Given the description of an element on the screen output the (x, y) to click on. 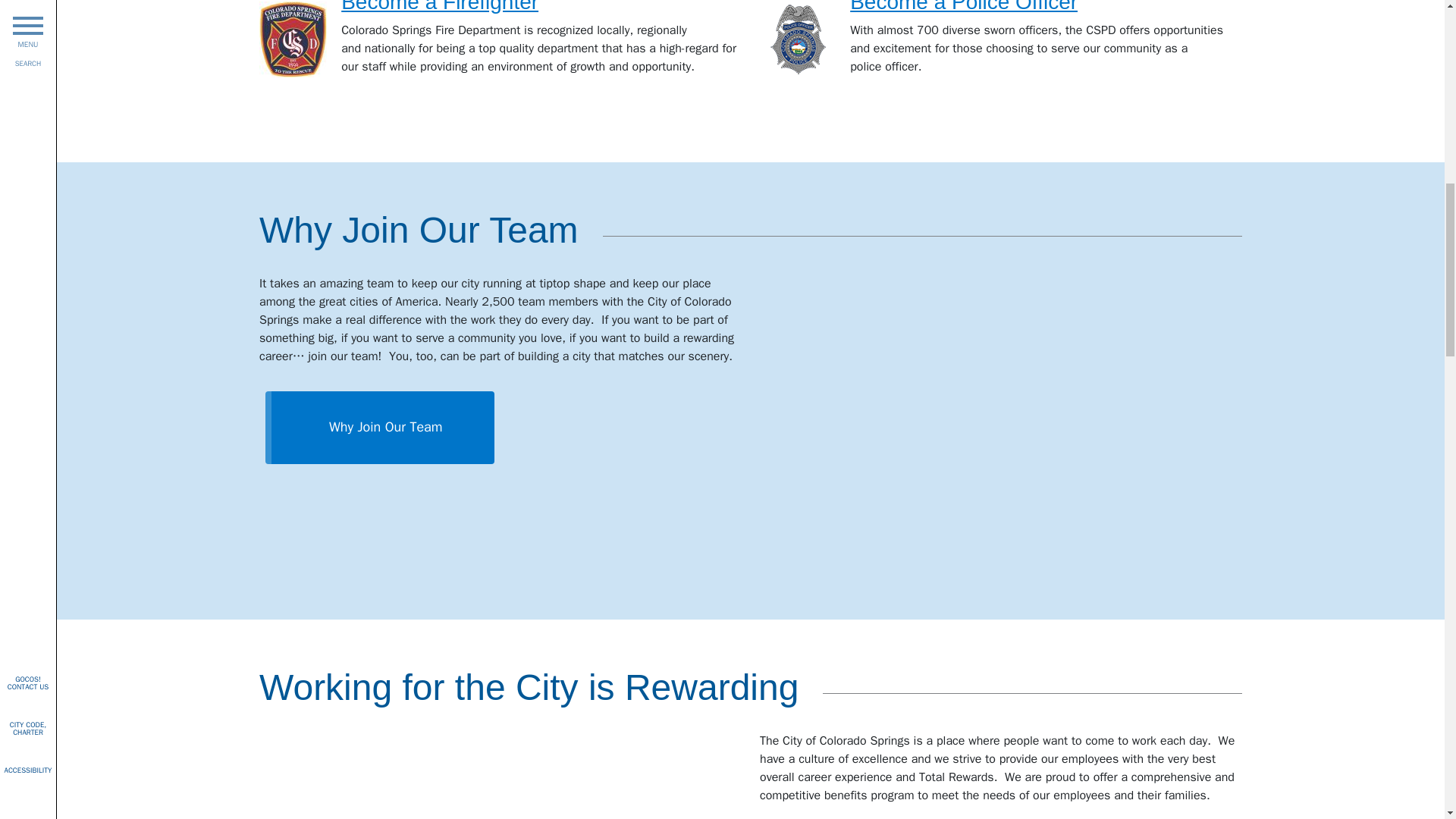
Become a Firefighter (439, 6)
CSPD Careers (963, 6)
Become a Firefighter (439, 6)
Why Join Our Team (379, 424)
Become a Police Officer (963, 6)
